Given the description of an element on the screen output the (x, y) to click on. 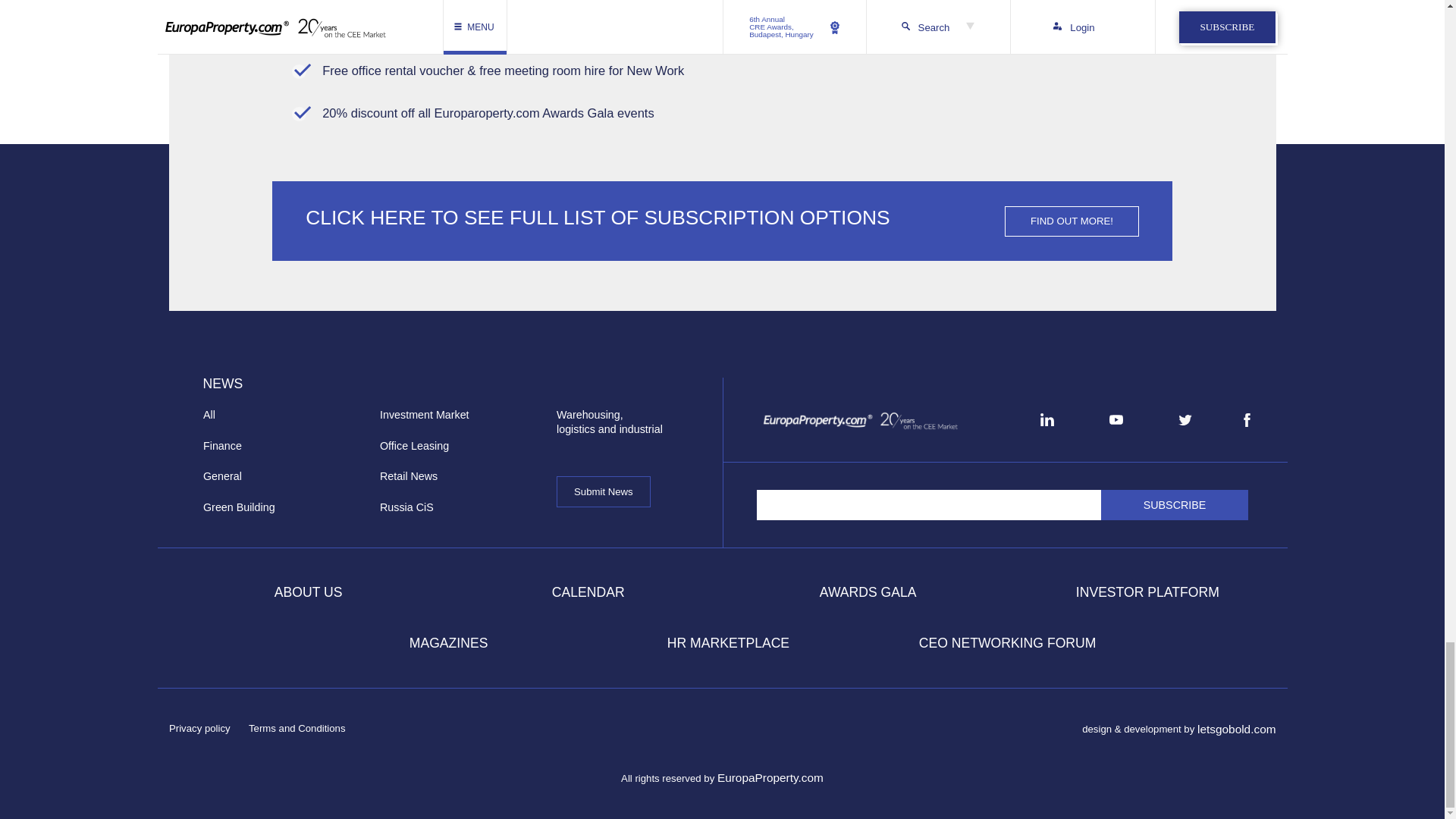
Twitter (1184, 419)
Subscribe (1174, 504)
YouTube (1116, 419)
LinkedIn (1047, 419)
